Given the description of an element on the screen output the (x, y) to click on. 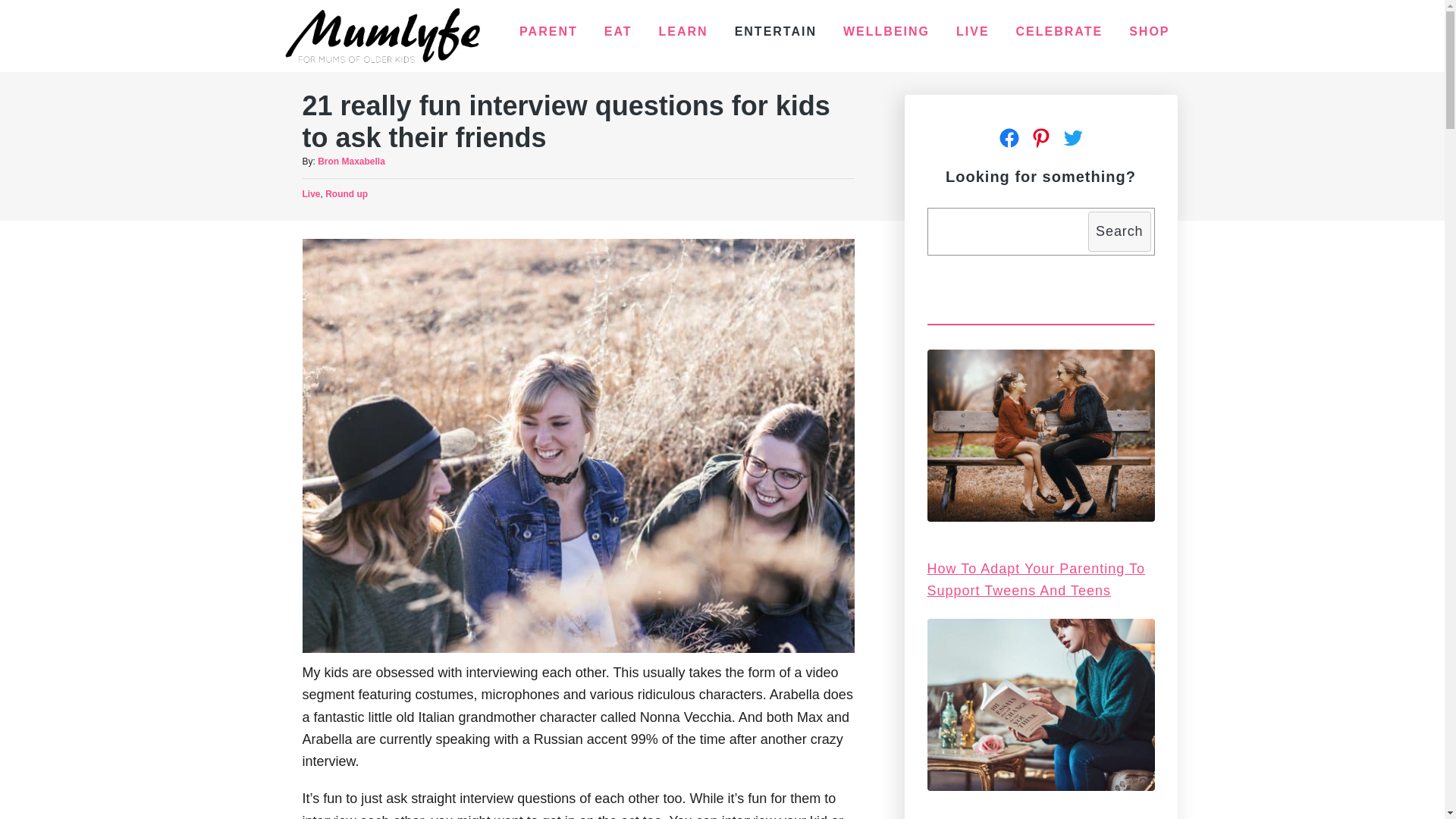
LIVE Element type: text (972, 31)
Live Element type: text (310, 193)
Twitter Element type: text (1072, 137)
Mumlyfe Element type: hover (382, 35)
EAT Element type: text (618, 31)
How To Adapt Your Parenting To Support Tweens And Teens Element type: text (1035, 579)
Pinterest Element type: text (1040, 137)
Bron Maxabella Element type: text (351, 161)
Facebook Element type: text (1008, 137)
PARENT Element type: text (548, 31)
LEARN Element type: text (683, 31)
Round up Element type: text (346, 193)
SHOP Element type: text (1148, 31)
ENTERTAIN Element type: text (775, 31)
Search Element type: text (1119, 230)
CELEBRATE Element type: text (1059, 31)
WELLBEING Element type: text (886, 31)
